Given the description of an element on the screen output the (x, y) to click on. 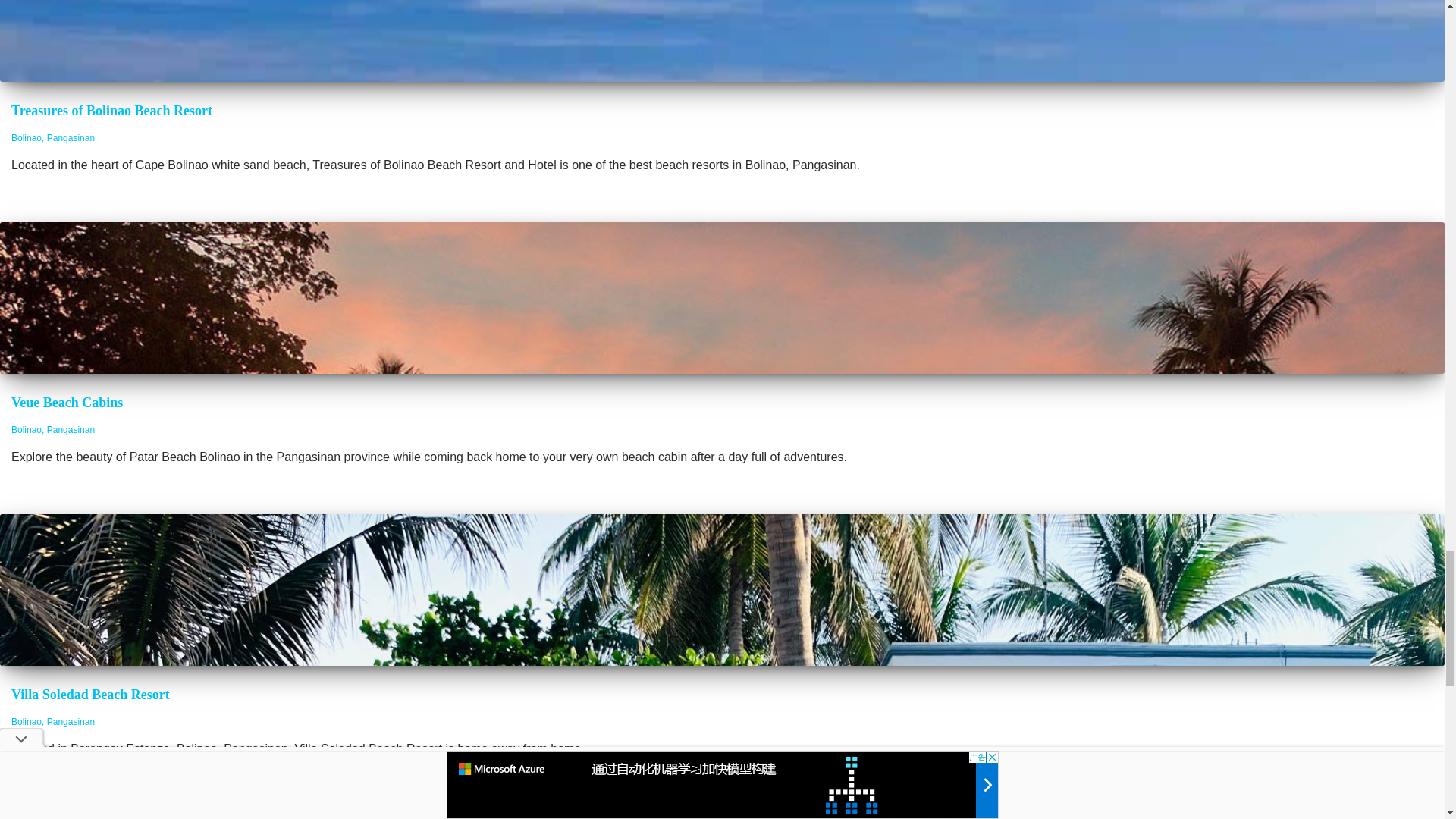
Villa Soledad Beach Resort (90, 694)
Bolinao, Pangasinan (52, 137)
Veue Beach Cabins (66, 402)
Bolinao, Pangasinan (52, 721)
Bolinao, Pangasinan (52, 429)
Treasures of Bolinao Beach Resort (111, 110)
